Given the description of an element on the screen output the (x, y) to click on. 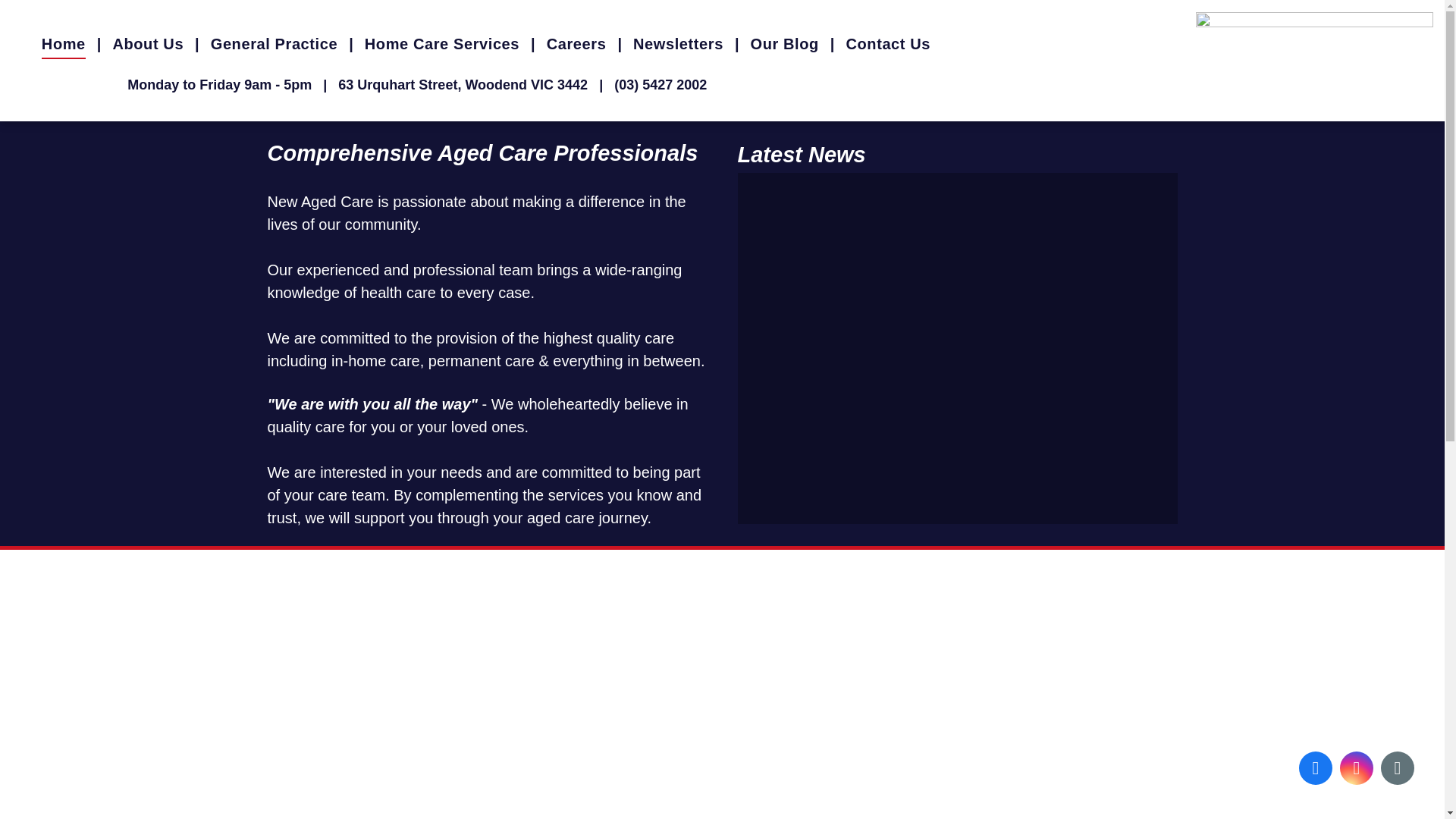
Home Element type: text (63, 44)
Newsletters Element type: text (677, 44)
Home Care Services Element type: text (441, 44)
(03) 5427 2002 Element type: text (660, 84)
General Practice Element type: text (273, 44)
Careers Element type: text (576, 44)
63 Urquhart Street, Woodend VIC 3442 Element type: text (462, 84)
Our Blog Element type: text (783, 44)
Contact Us Element type: text (887, 44)
About Us Element type: text (147, 44)
